Given the description of an element on the screen output the (x, y) to click on. 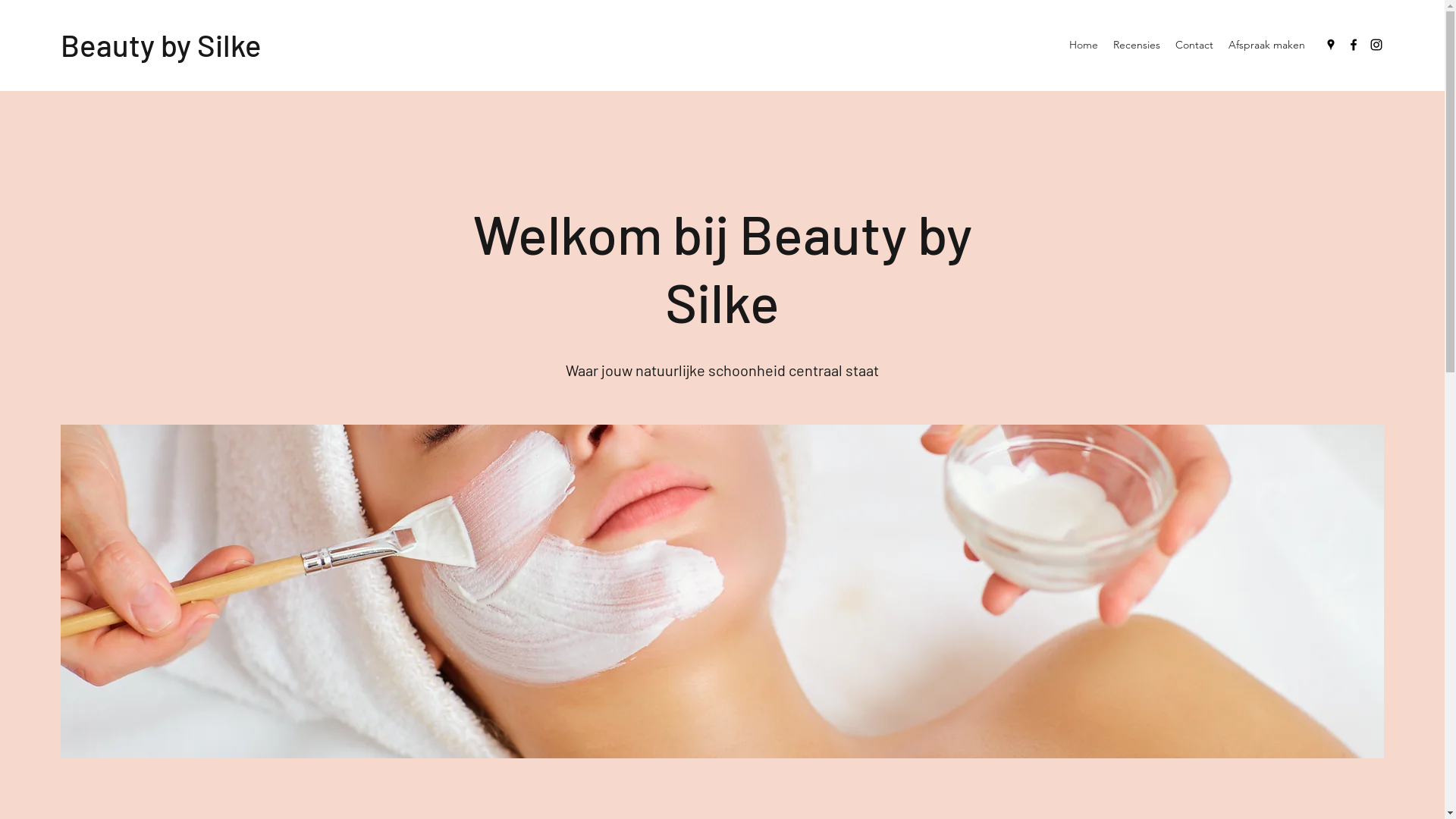
Beauty by Silke Element type: text (160, 44)
Contact Element type: text (1193, 44)
Home Element type: text (1083, 44)
Recensies Element type: text (1136, 44)
Afspraak maken Element type: text (1266, 44)
